Given the description of an element on the screen output the (x, y) to click on. 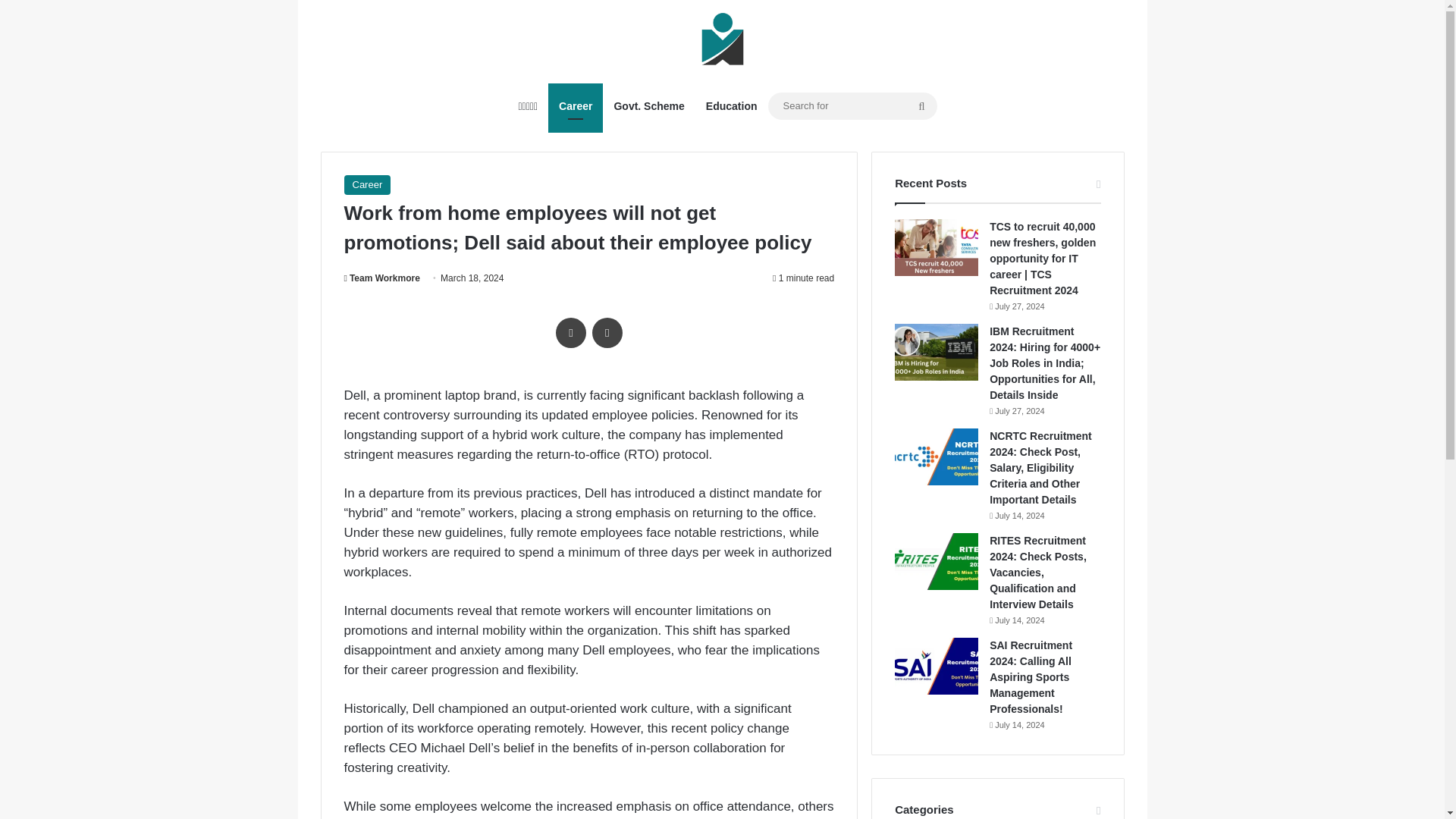
Search for (922, 105)
Team Workmore (381, 277)
Govt. Scheme (648, 105)
Facebook (571, 332)
Education (731, 105)
Career (575, 105)
Search for (851, 105)
X (607, 332)
X (607, 332)
Career (367, 184)
Facebook (571, 332)
Workmore (722, 41)
